Given the description of an element on the screen output the (x, y) to click on. 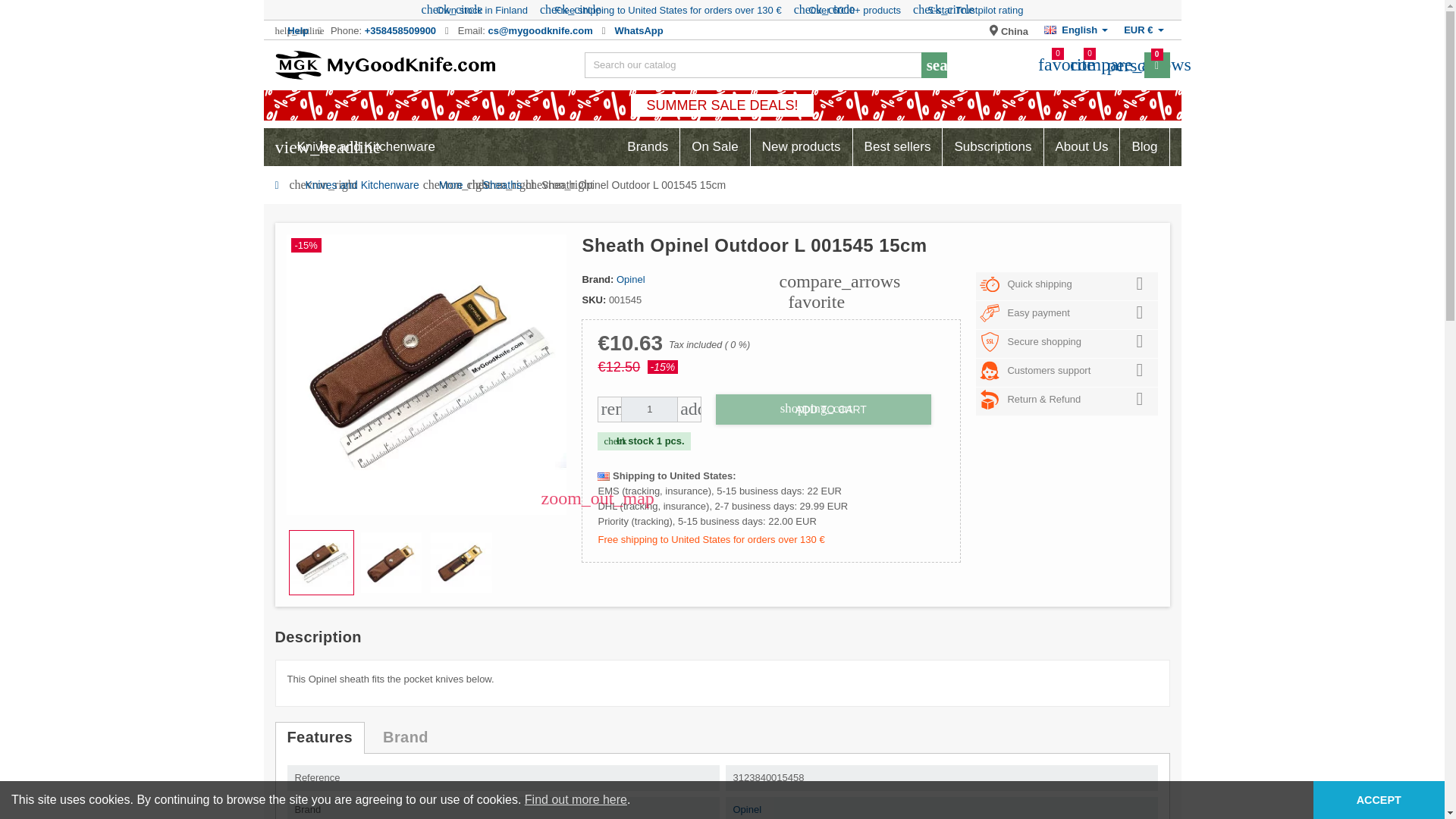
Subscriptions (992, 146)
New products (801, 146)
0 (1155, 64)
Knives and Kitchenware (362, 184)
China (1047, 63)
Help (1008, 30)
On Sale (297, 30)
Brands (714, 146)
MyGoodKnife (647, 146)
1 (385, 63)
WhatsApp (649, 409)
person (638, 30)
Log in to your customer account (1116, 65)
Opinel (1116, 65)
